Given the description of an element on the screen output the (x, y) to click on. 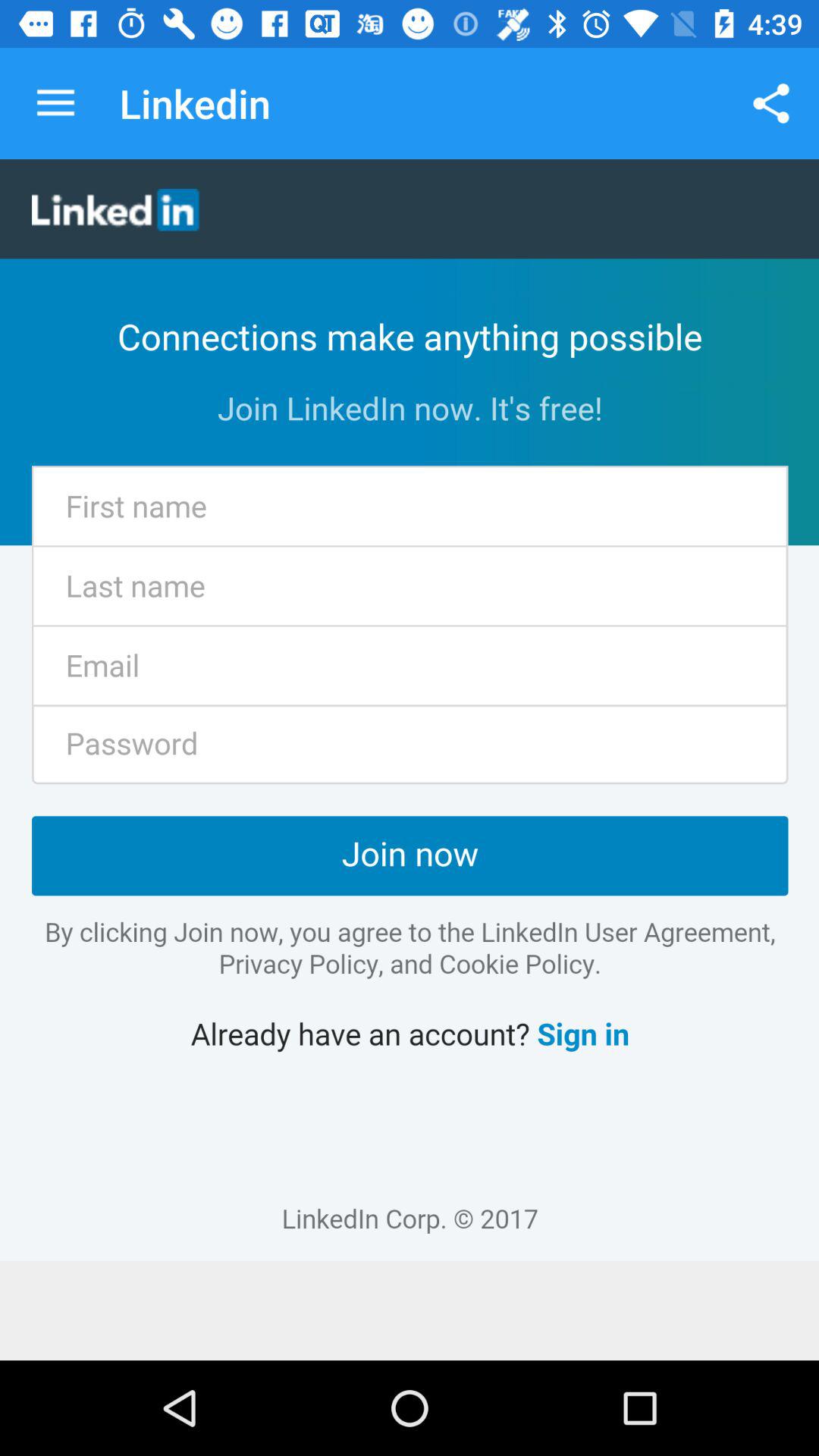
enter sign up info (409, 709)
